Given the description of an element on the screen output the (x, y) to click on. 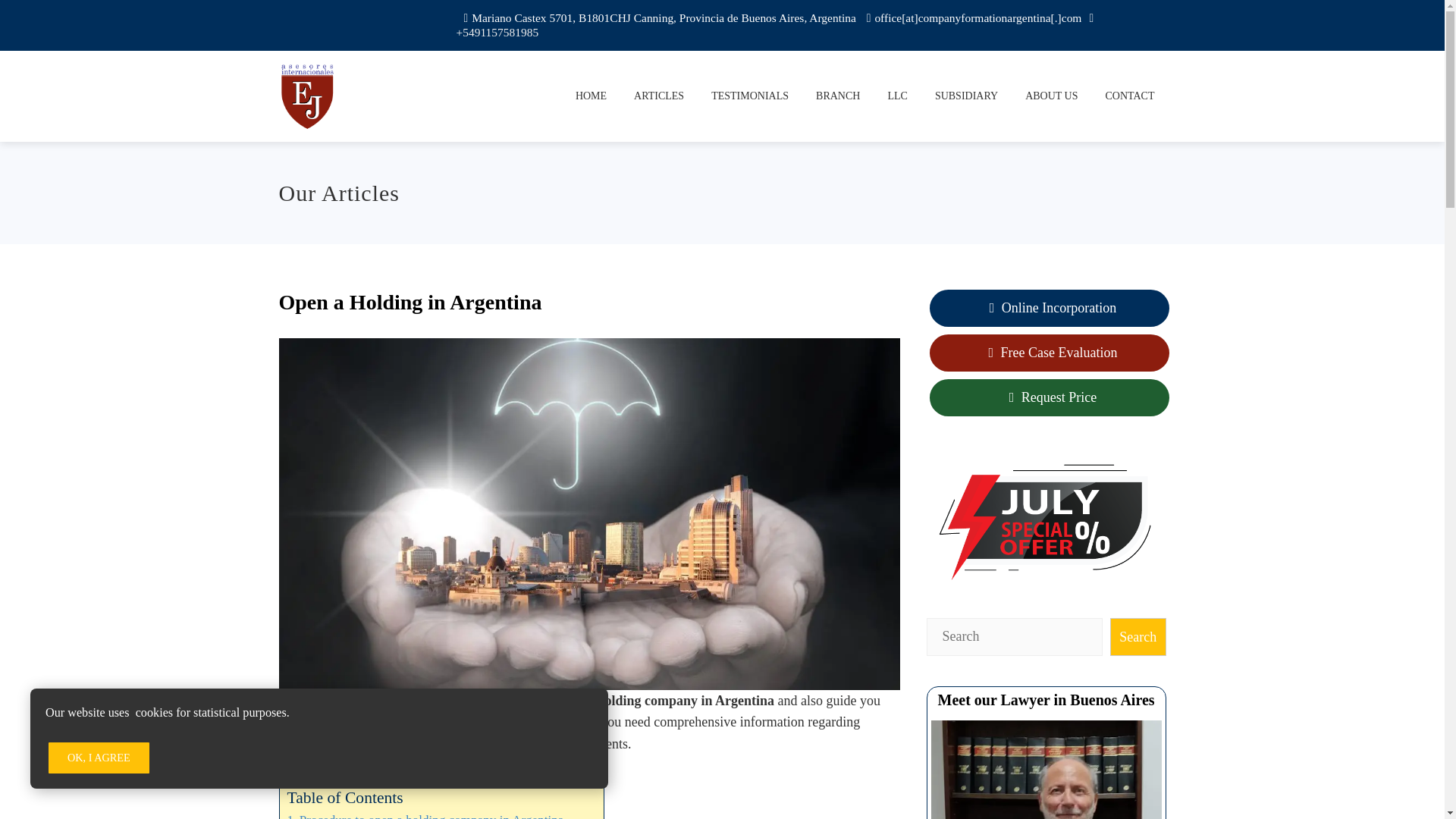
SUBSIDIARY (966, 95)
Online Incorporation (1049, 307)
opening a company in Argentina (373, 743)
Procedure to open a holding company in Argentina (424, 814)
Procedure to open a holding company in Argentina (424, 814)
OK, I AGREE (98, 757)
company formation agents (380, 700)
TESTIMONIALS (749, 95)
